Given the description of an element on the screen output the (x, y) to click on. 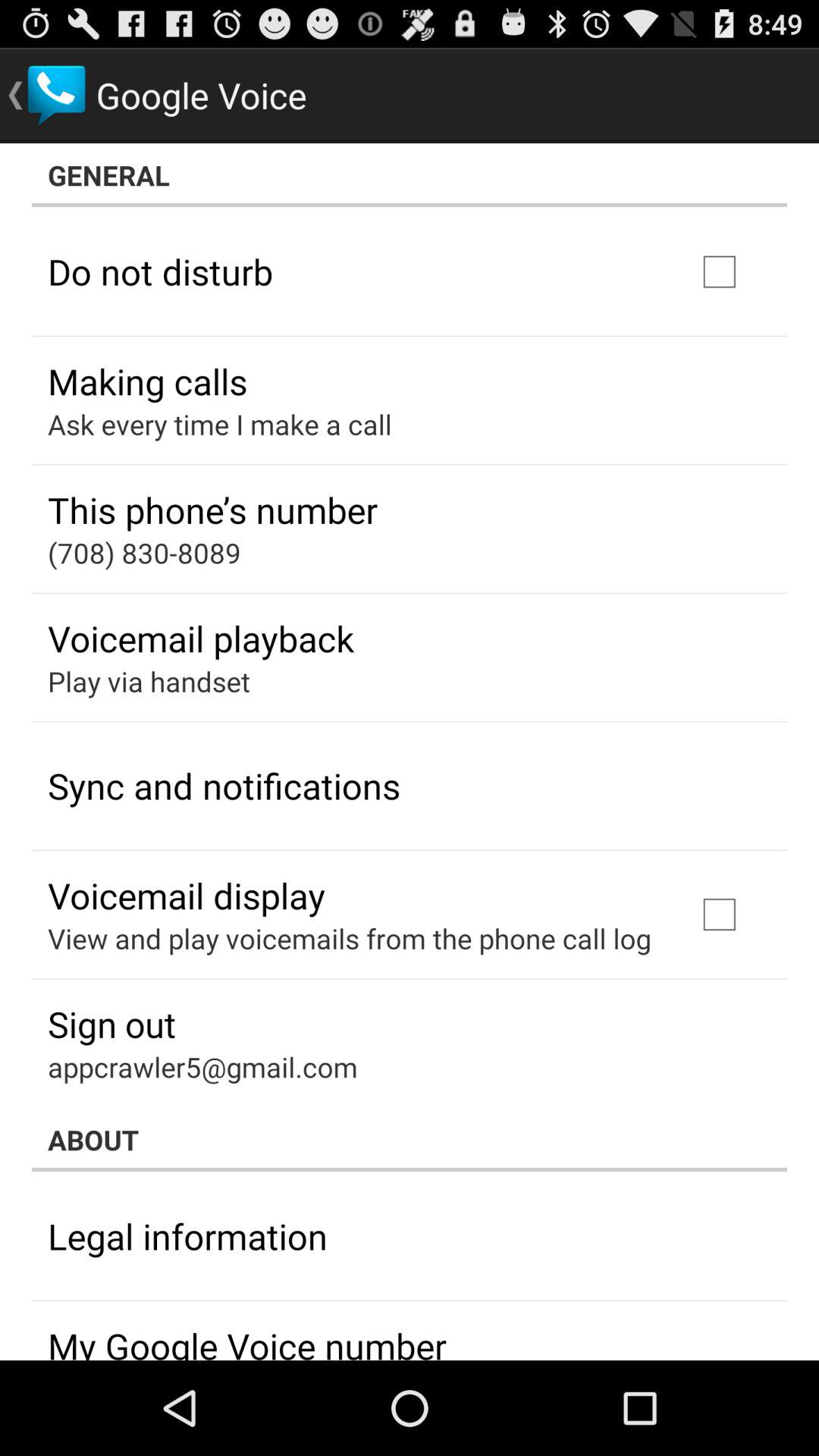
turn on the this phone s (212, 509)
